Given the description of an element on the screen output the (x, y) to click on. 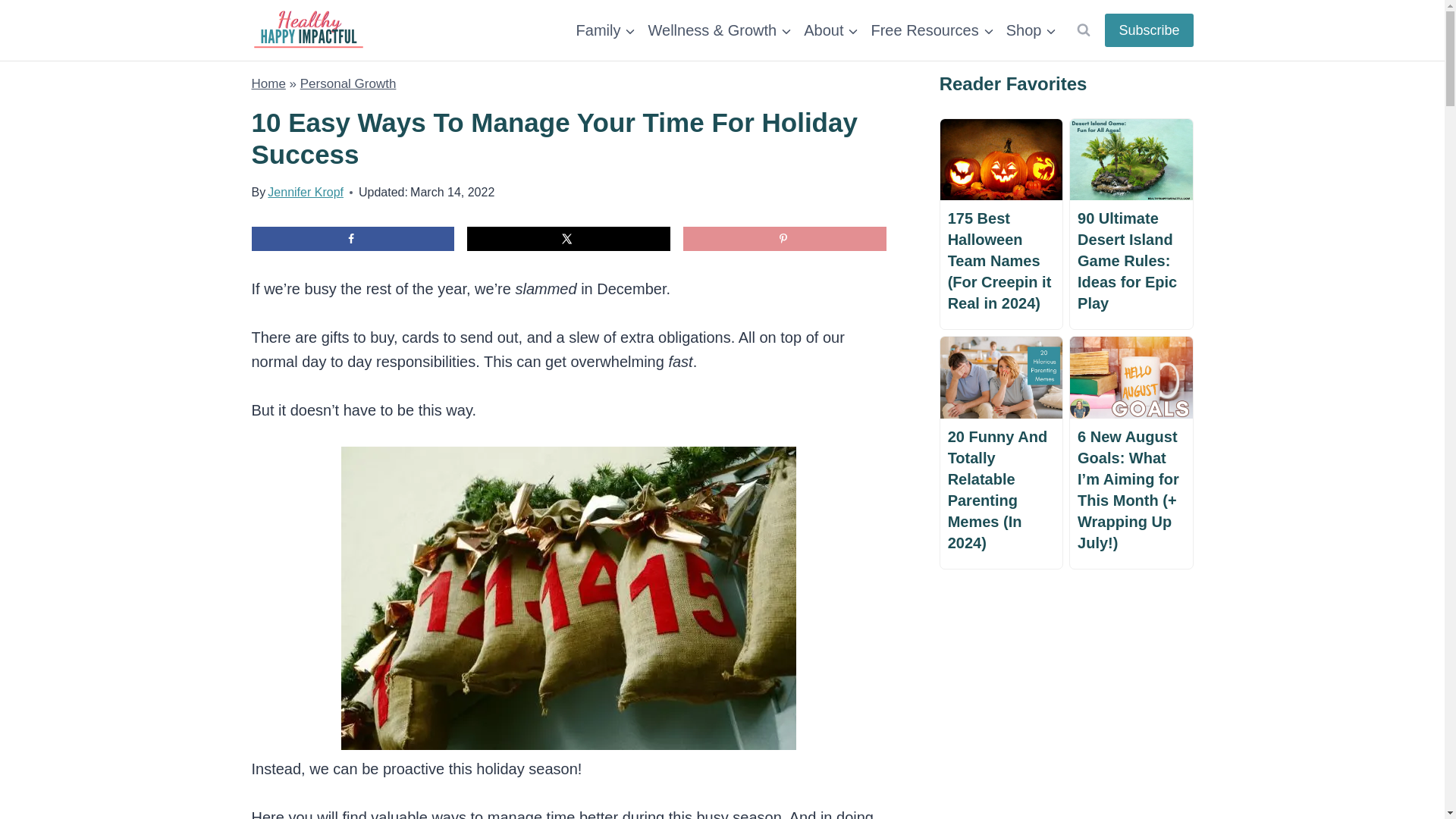
Free Resources (931, 30)
Share on X (568, 238)
Save to Pinterest (784, 238)
About (830, 30)
Family (606, 30)
Share on Facebook (352, 238)
